Given the description of an element on the screen output the (x, y) to click on. 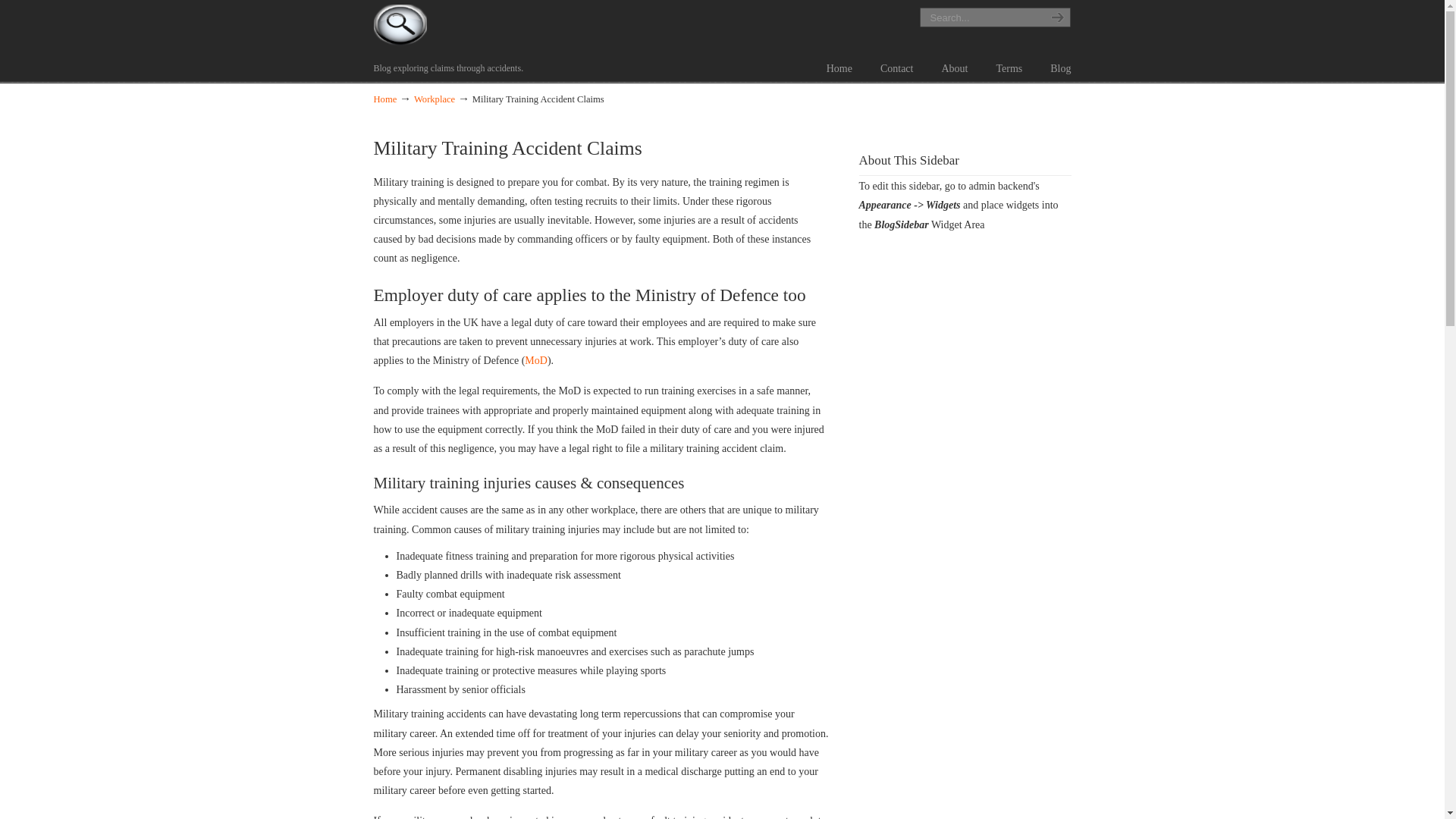
Contact (896, 69)
Terms (1007, 69)
About (954, 69)
search (1055, 17)
Workplace (433, 99)
Search... (978, 17)
Home (384, 99)
search (1055, 17)
Home (838, 69)
MoD (535, 360)
